Given the description of an element on the screen output the (x, y) to click on. 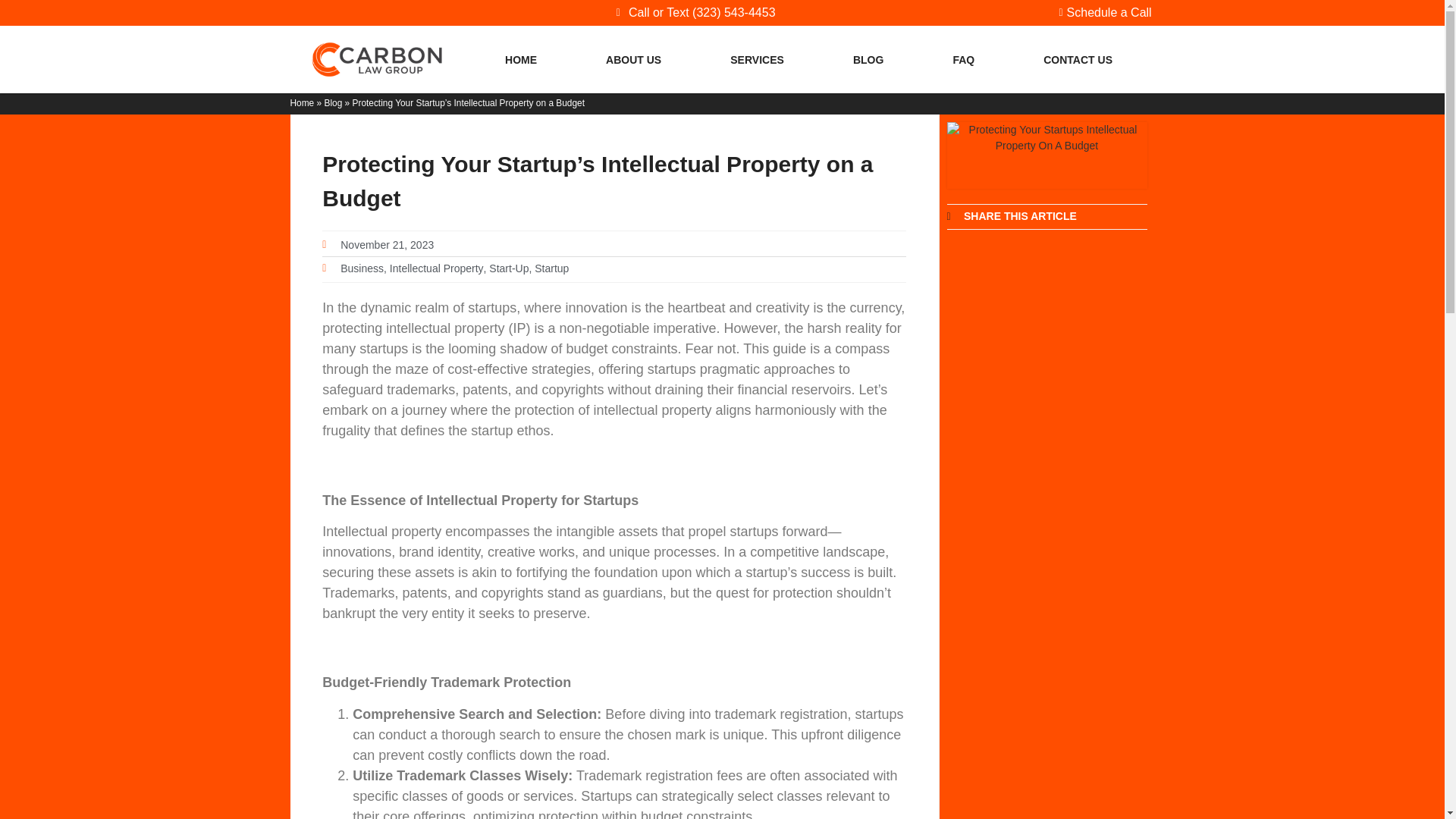
Blog (332, 102)
HOME (520, 59)
SERVICES (756, 59)
Home (301, 102)
BLOG (868, 59)
Schedule a Call (1100, 13)
ABOUT US (633, 59)
CONTACT US (1078, 59)
Business (362, 268)
FAQ (963, 59)
